Given the description of an element on the screen output the (x, y) to click on. 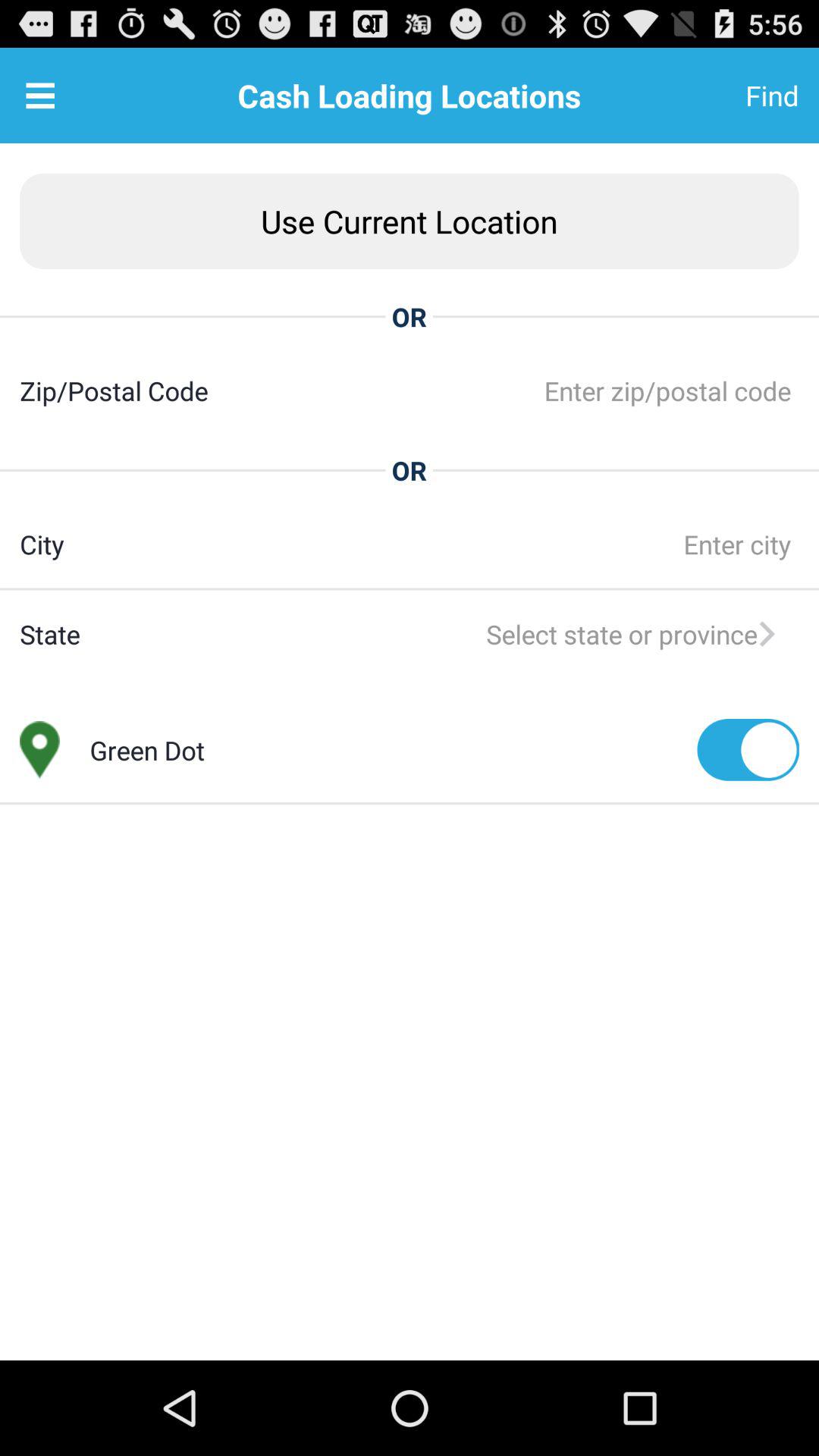
choose the checkbox on the right (748, 749)
